Given the description of an element on the screen output the (x, y) to click on. 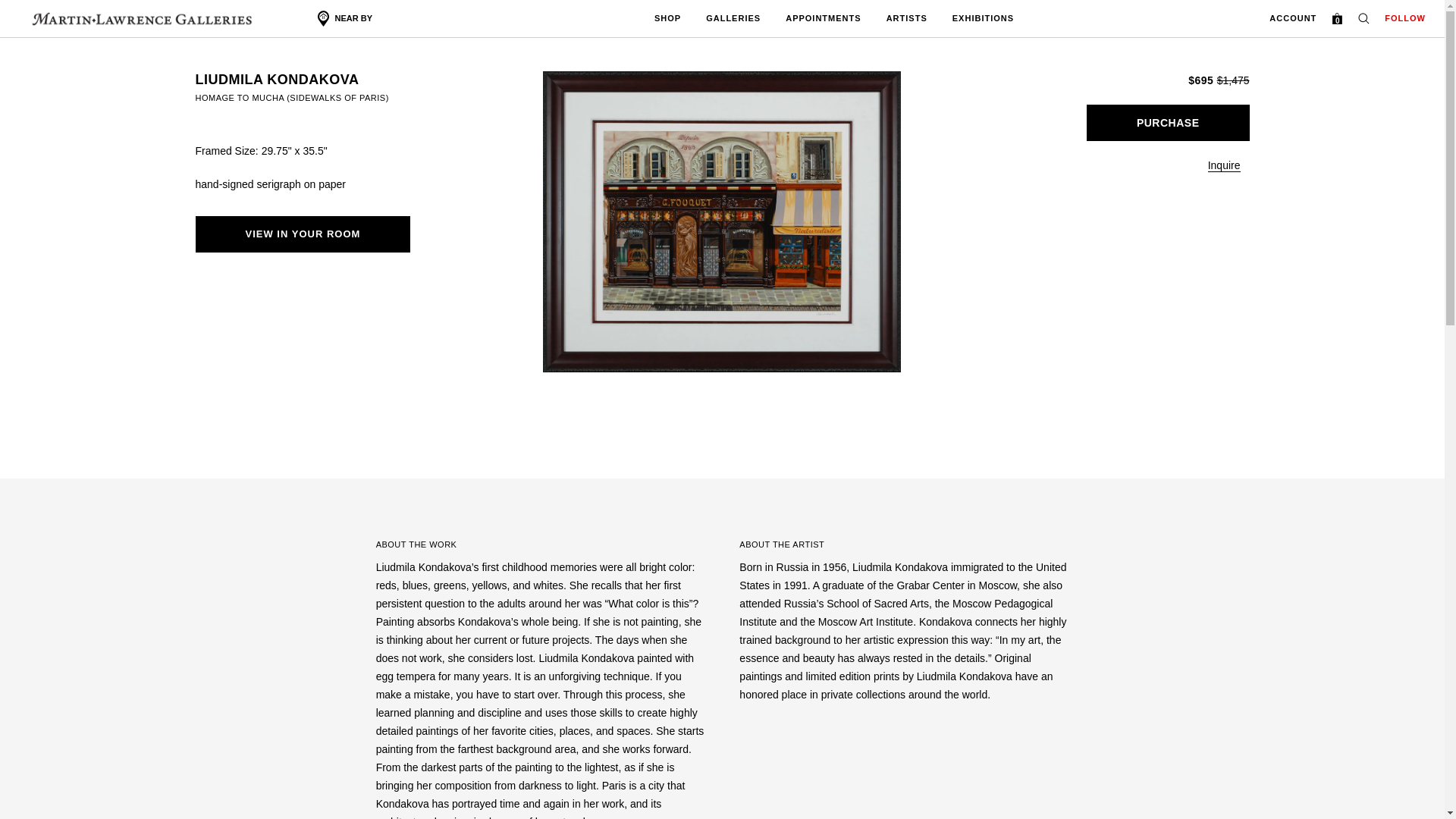
NEAR BY (344, 18)
Back to the frontpage (208, 24)
